Given the description of an element on the screen output the (x, y) to click on. 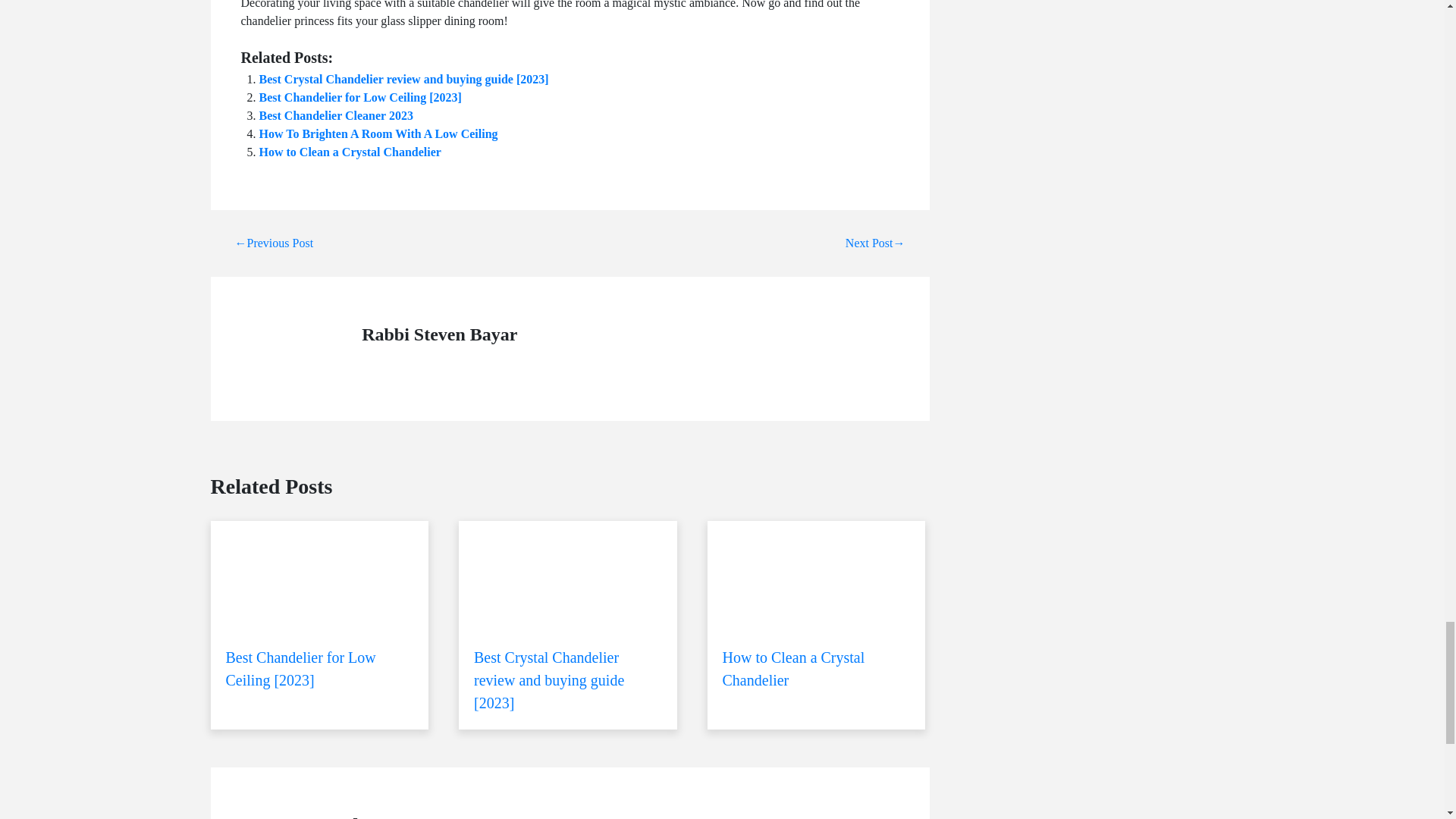
Best Chandelier Cleaner 2023 (336, 115)
How To Brighten A Room With A Low Ceiling (378, 133)
How to Clean a Crystal Chandelier (816, 613)
How to Clean a Crystal Chandelier (350, 151)
How To Brighten A Room With A Low Ceiling (378, 133)
How to Clean a Crystal Chandelier (350, 151)
Best Chandelier Cleaner 2023 (336, 115)
